Given the description of an element on the screen output the (x, y) to click on. 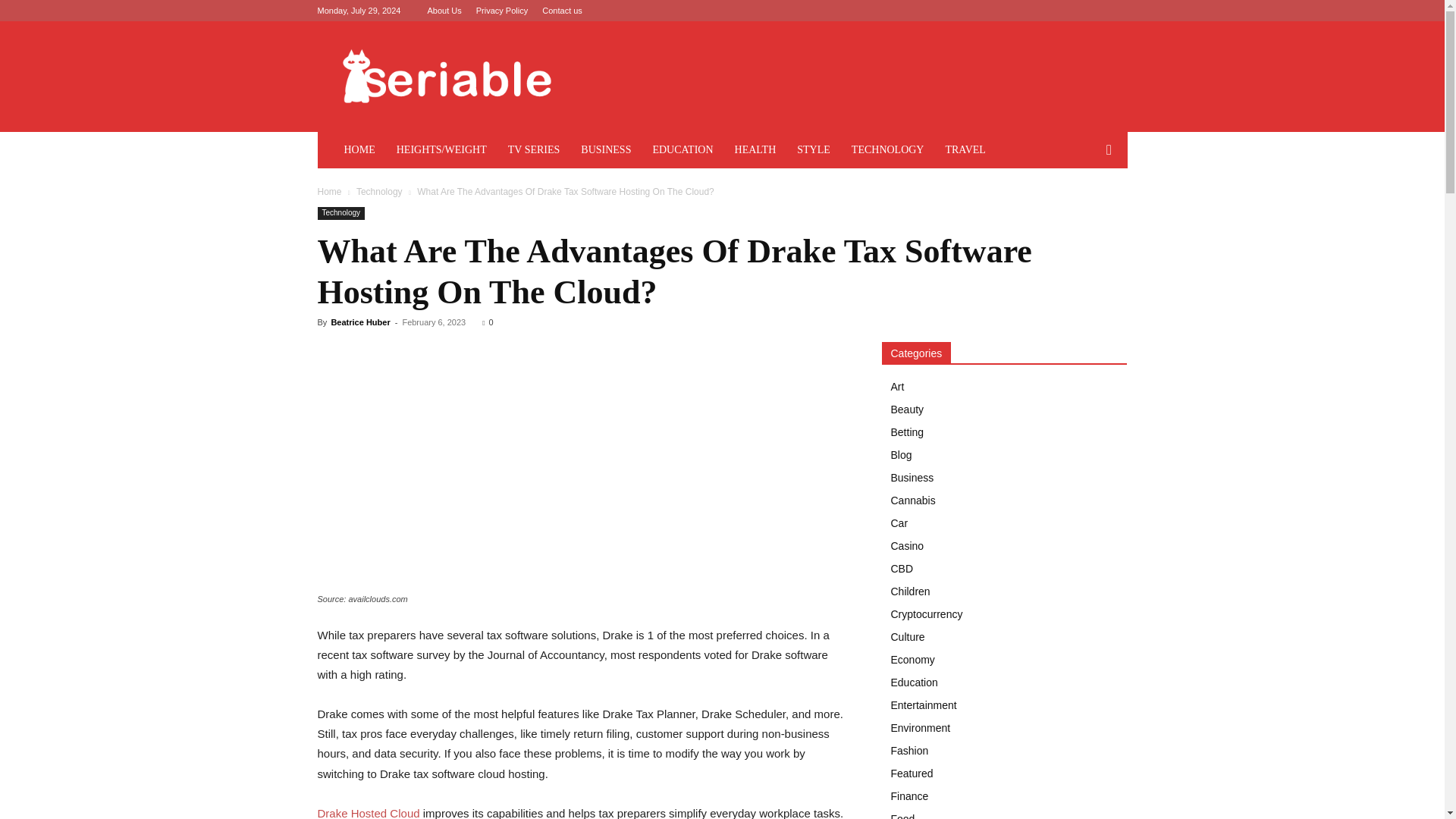
TRAVEL (964, 149)
HOME (359, 149)
STYLE (813, 149)
EDUCATION (682, 149)
BUSINESS (606, 149)
Contact us (561, 10)
About Us (443, 10)
TV SERIES (533, 149)
Privacy Policy (501, 10)
HEALTH (755, 149)
View all posts in Technology (379, 191)
Best-tax-suite-Drake-Tax-Software-Hosting (580, 465)
TECHNOLOGY (887, 149)
